Given the description of an element on the screen output the (x, y) to click on. 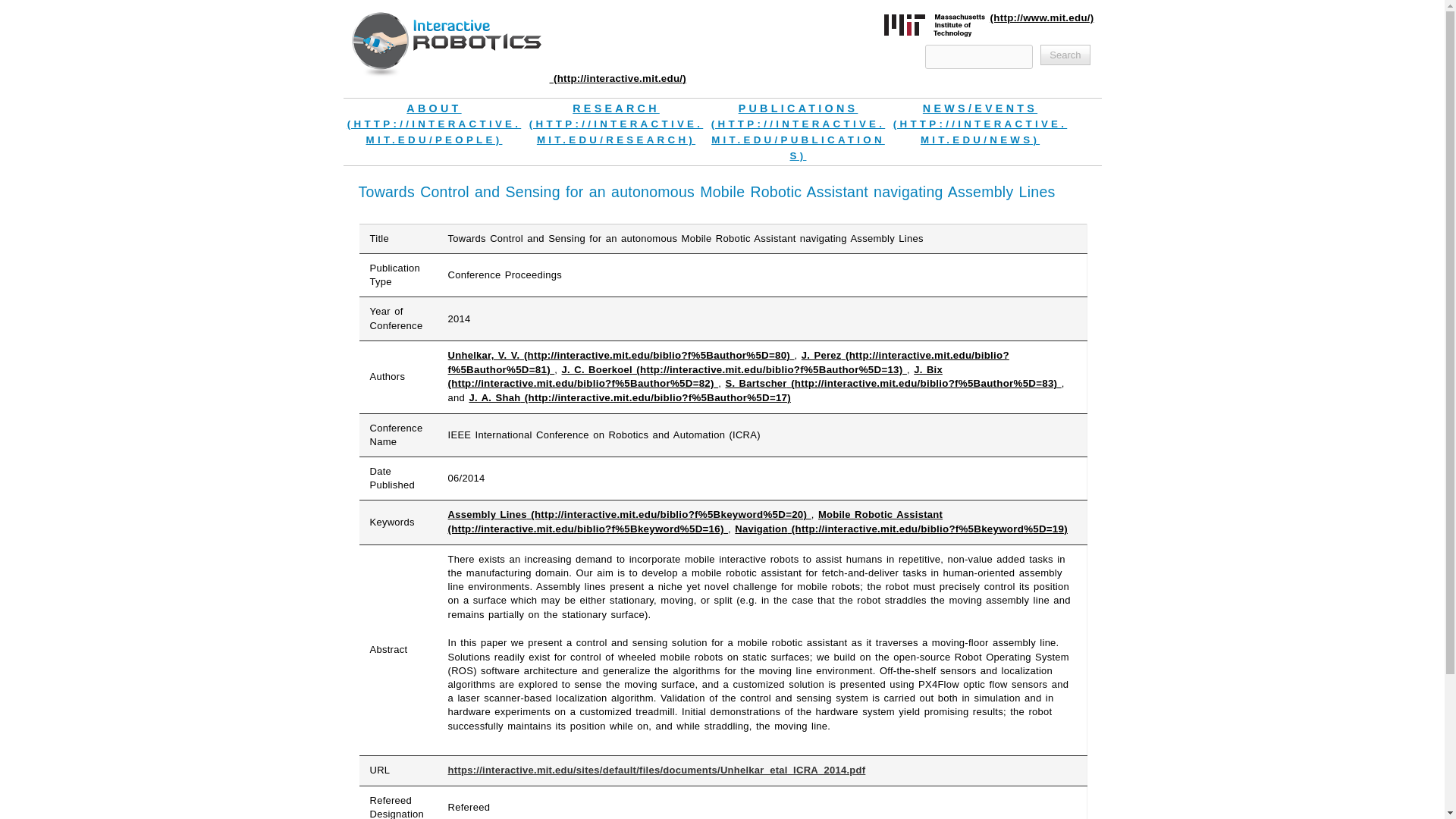
J. C. Boerkoel (734, 369)
Enter the terms you wish to search for. (978, 56)
J. Perez (728, 362)
Unhelkar, V. V. (621, 355)
Assembly Lines (629, 514)
RESEARCH (615, 123)
PUBLICATIONS (797, 132)
S. Bartscher (893, 383)
Search (1065, 55)
J. A. Shah (629, 397)
Home page (517, 78)
Search (1065, 55)
Mobile Robotic Assistant (695, 521)
Navigation (901, 528)
